Given the description of an element on the screen output the (x, y) to click on. 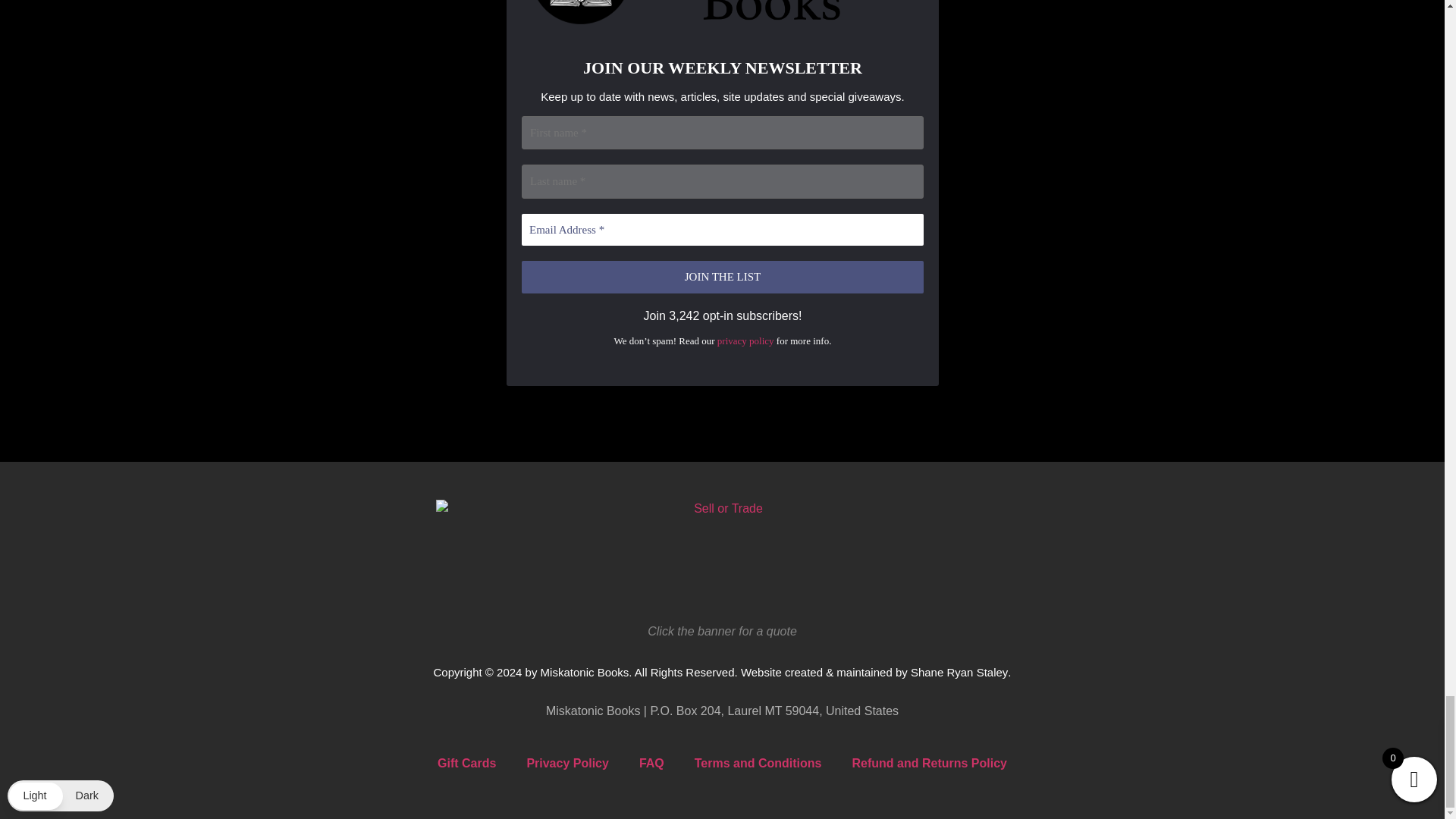
First name (722, 132)
JOIN THE LIST (722, 277)
Last name (722, 182)
Email Address (722, 229)
